Given the description of an element on the screen output the (x, y) to click on. 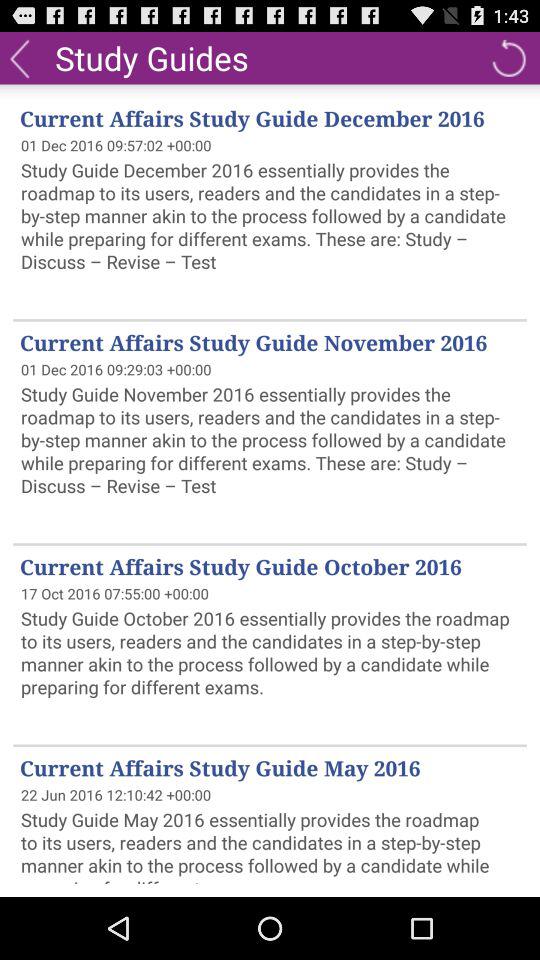
back button (19, 57)
